Given the description of an element on the screen output the (x, y) to click on. 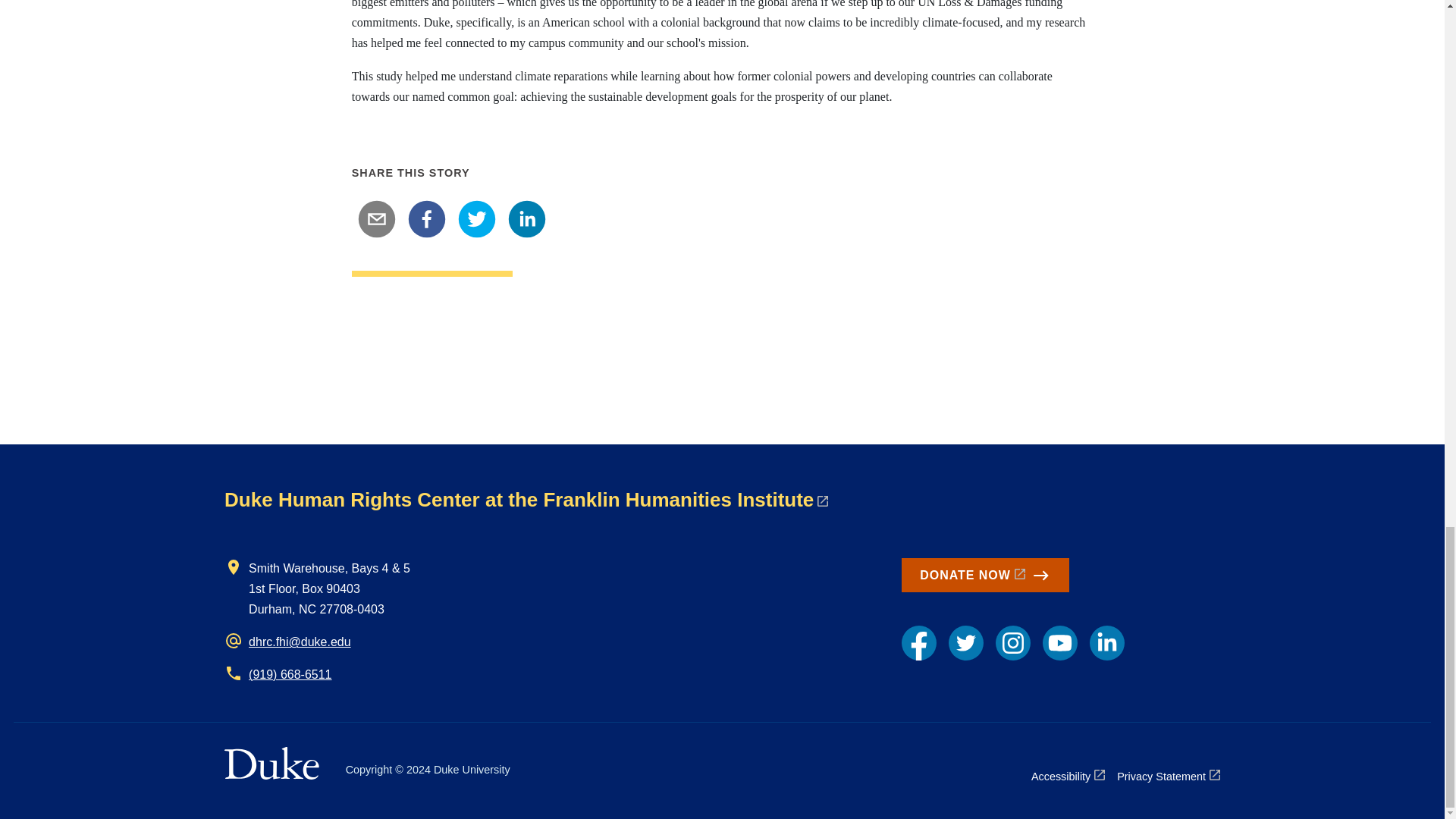
Accessibility (1067, 776)
YouTube link (1059, 642)
Twitter link (966, 642)
LinkedIn link (1106, 642)
Privacy Statement (1168, 776)
Instagram link (1012, 642)
DONATE NOW (984, 574)
Facebook link (918, 642)
